Given the description of an element on the screen output the (x, y) to click on. 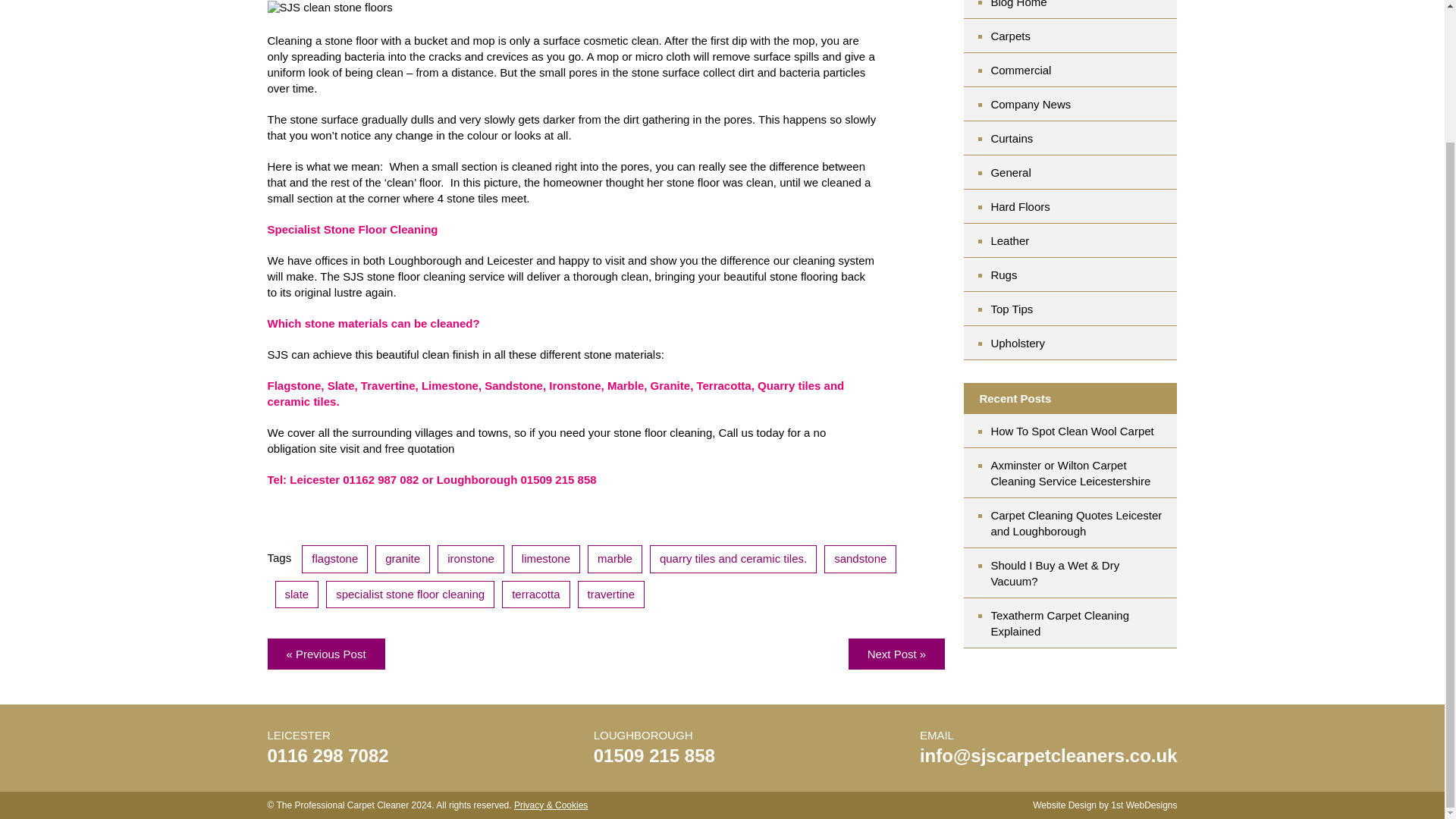
terracotta (535, 593)
Carpets (1083, 35)
ironstone (470, 559)
marble (615, 559)
Blog Home (1083, 9)
limestone (545, 559)
granite (402, 559)
Commercial (1083, 69)
quarry tiles and ceramic tiles. (732, 559)
slate (296, 593)
specialist stone floor cleaning (410, 593)
flagstone (334, 559)
sandstone (860, 559)
travertine (611, 593)
